Given the description of an element on the screen output the (x, y) to click on. 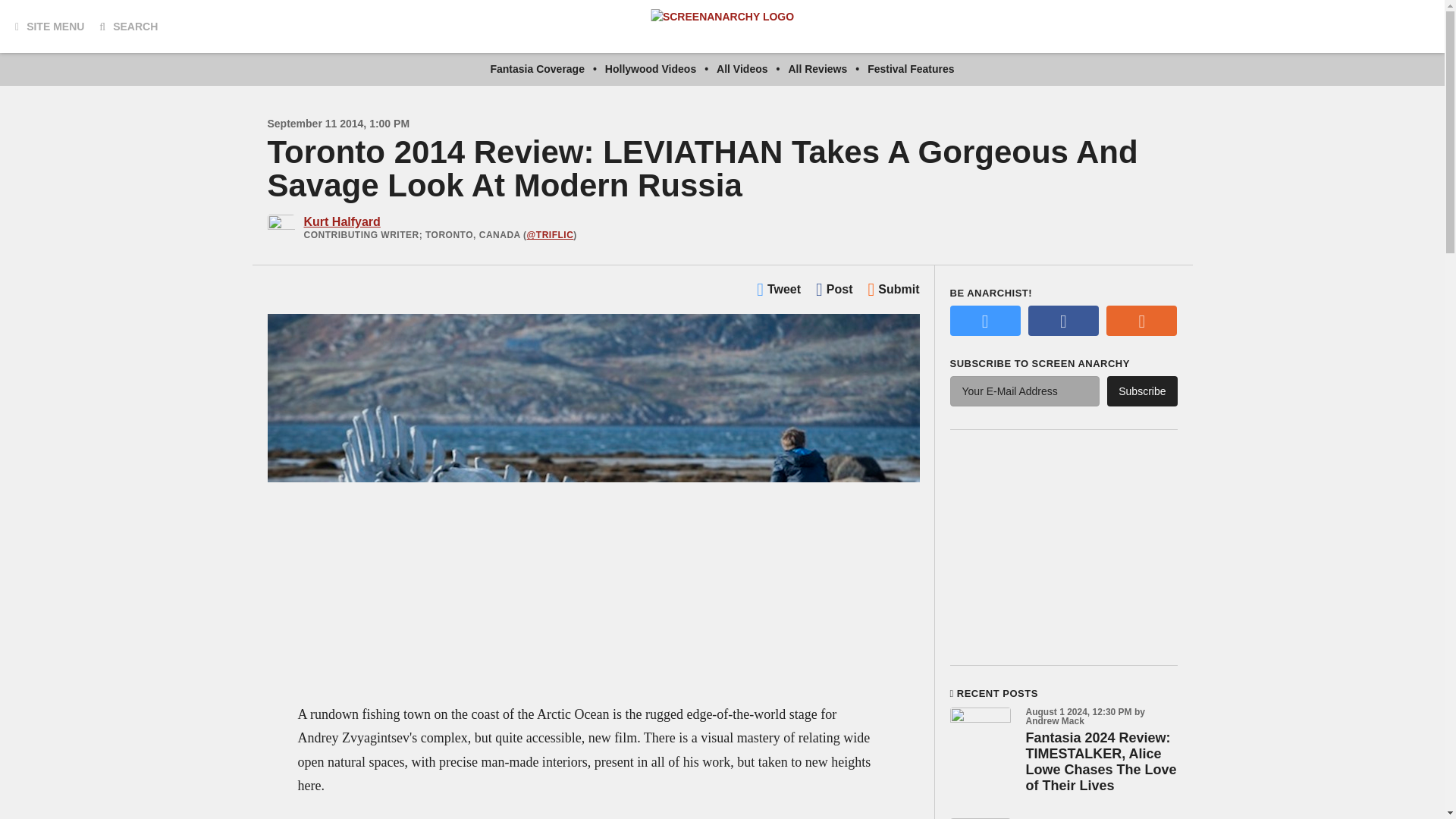
SEARCH (128, 26)
Subscribe (1141, 390)
SITE MENU (49, 26)
Fantasia Coverage (537, 69)
